Given the description of an element on the screen output the (x, y) to click on. 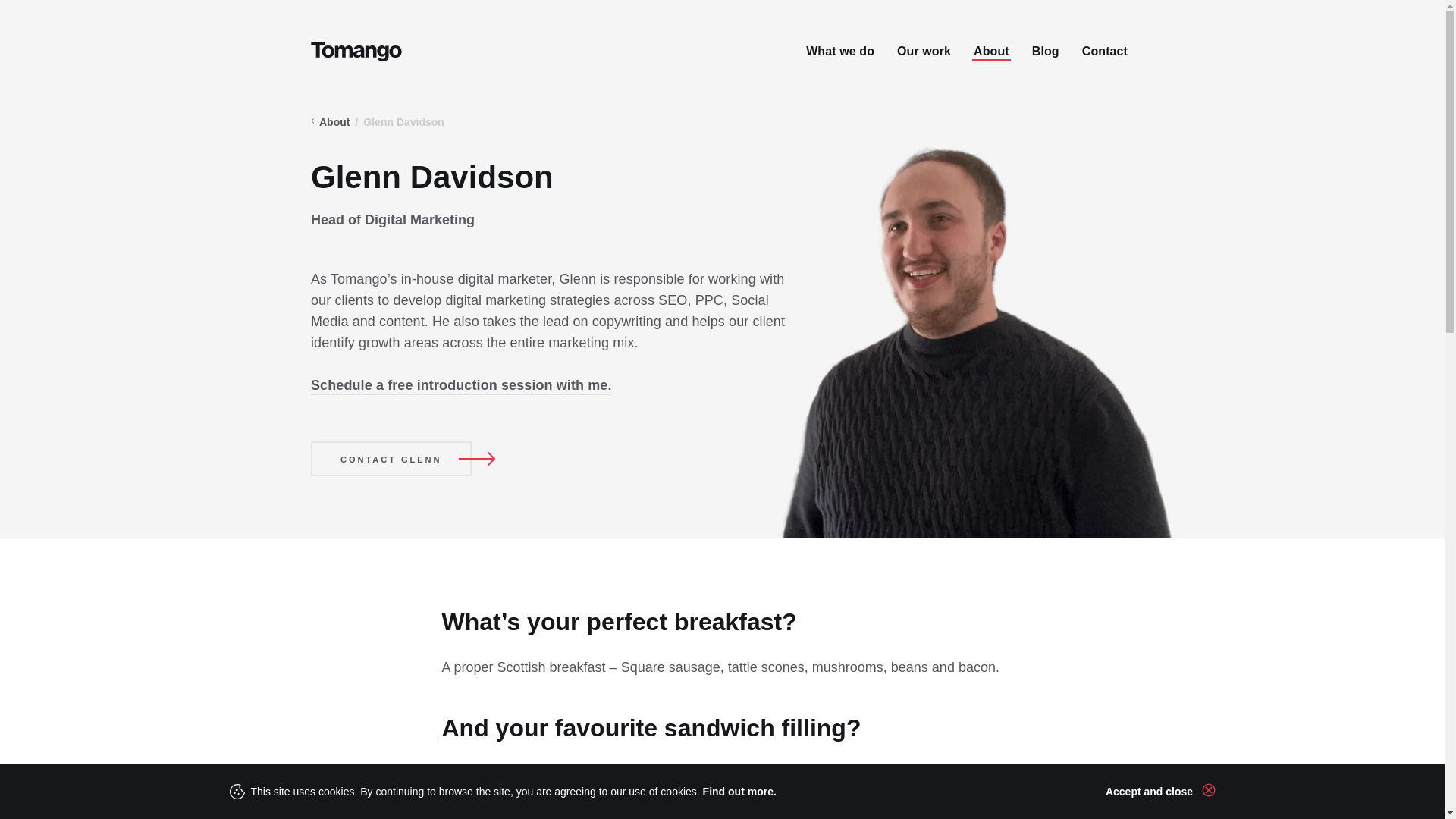
Our work (923, 51)
What we do (840, 51)
About (991, 51)
Blog (1045, 51)
CONTACT GLENN (391, 458)
Find out more. (739, 791)
About (333, 123)
Contact (1103, 51)
Accept and close (1156, 790)
Schedule a free introduction session with me. (461, 385)
